Given the description of an element on the screen output the (x, y) to click on. 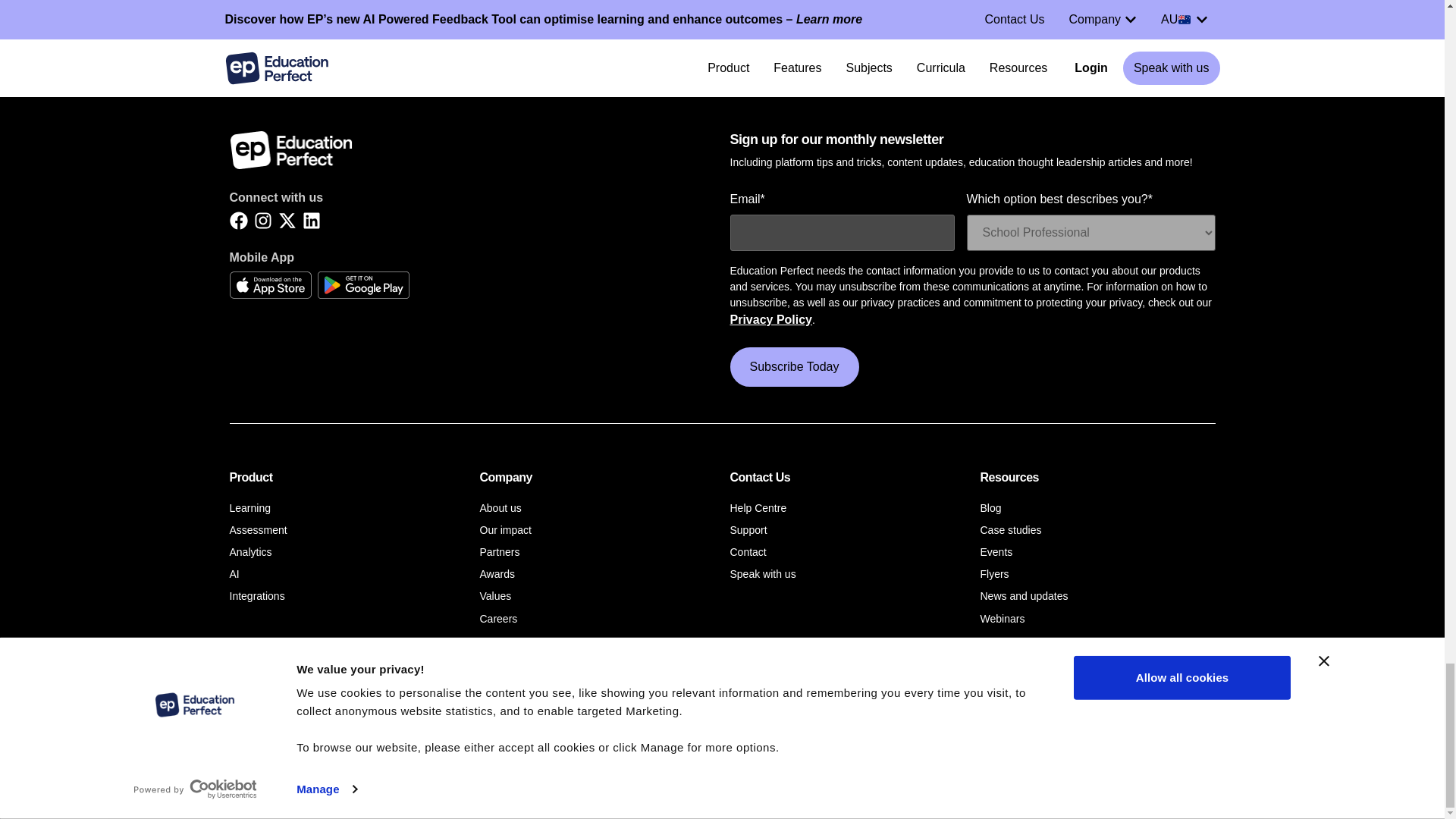
Subscribe Today (794, 366)
